Given the description of an element on the screen output the (x, y) to click on. 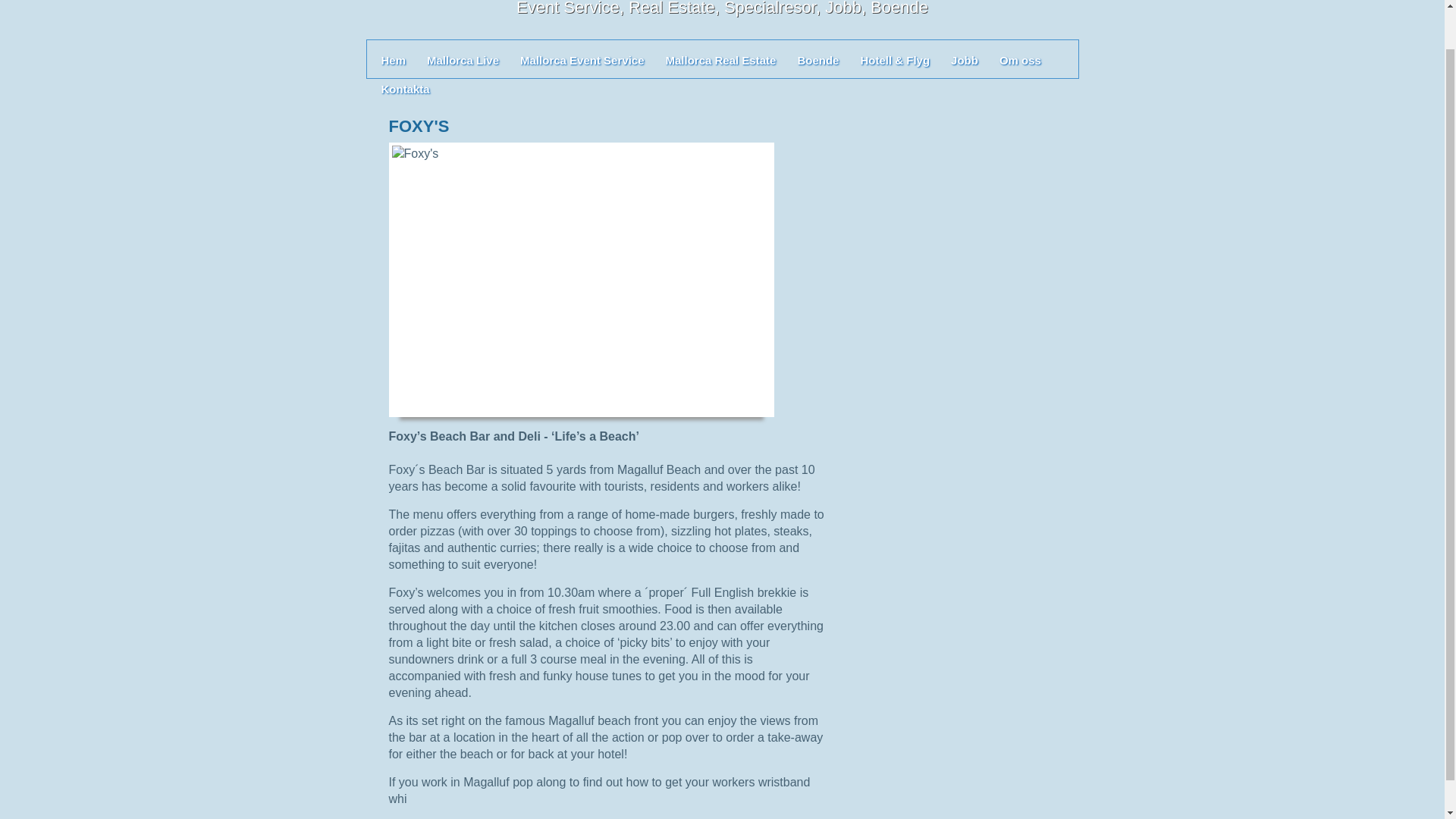
Mallorca Real Estate (720, 59)
Mallorca Event Service (581, 59)
Boende (817, 59)
Mallorca Live (462, 59)
Hem (392, 59)
Kontakta (404, 88)
Om oss (1019, 59)
Jobb (964, 59)
